Given the description of an element on the screen output the (x, y) to click on. 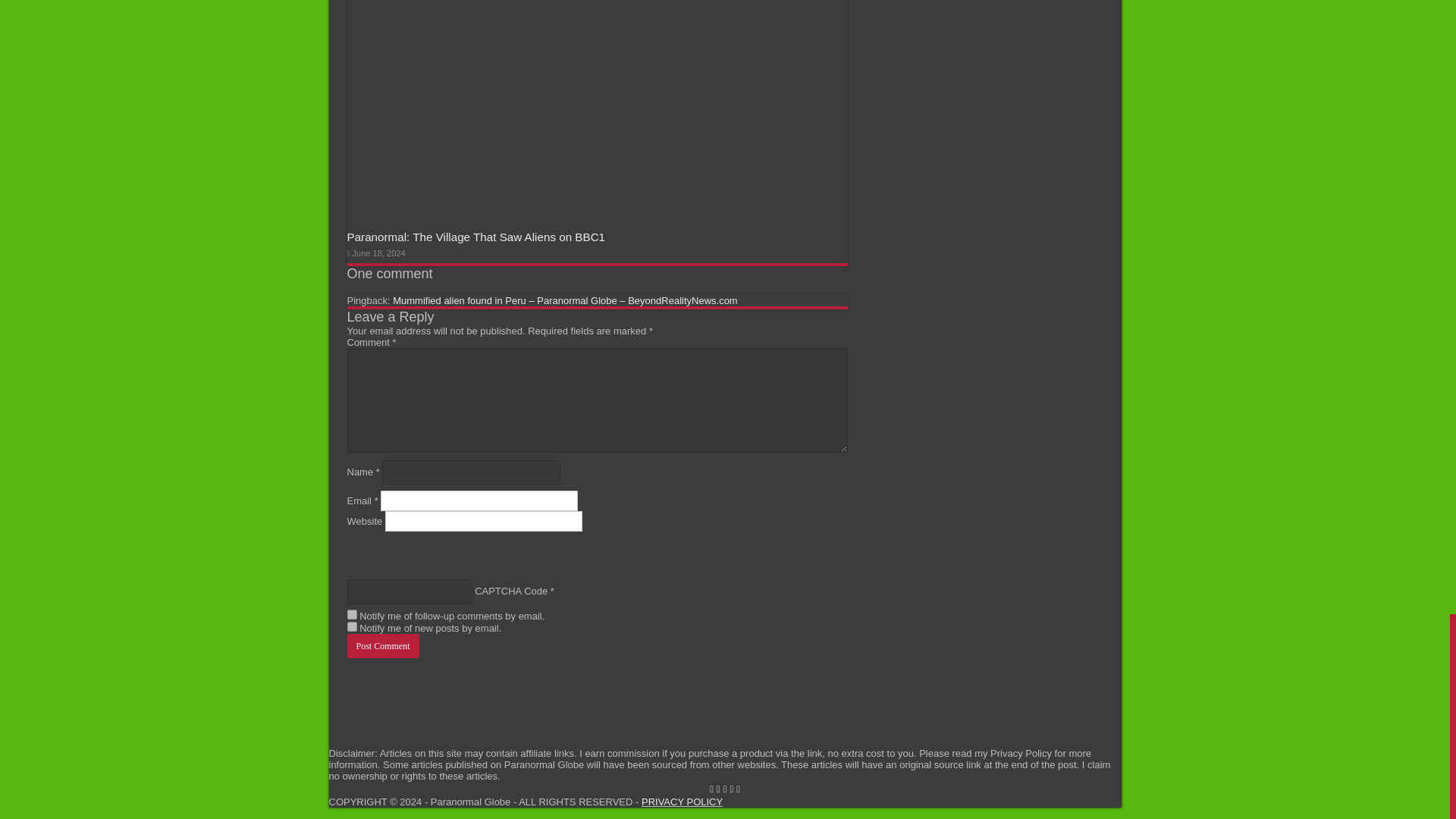
subscribe (351, 626)
subscribe (351, 614)
Post Comment (383, 645)
